Given the description of an element on the screen output the (x, y) to click on. 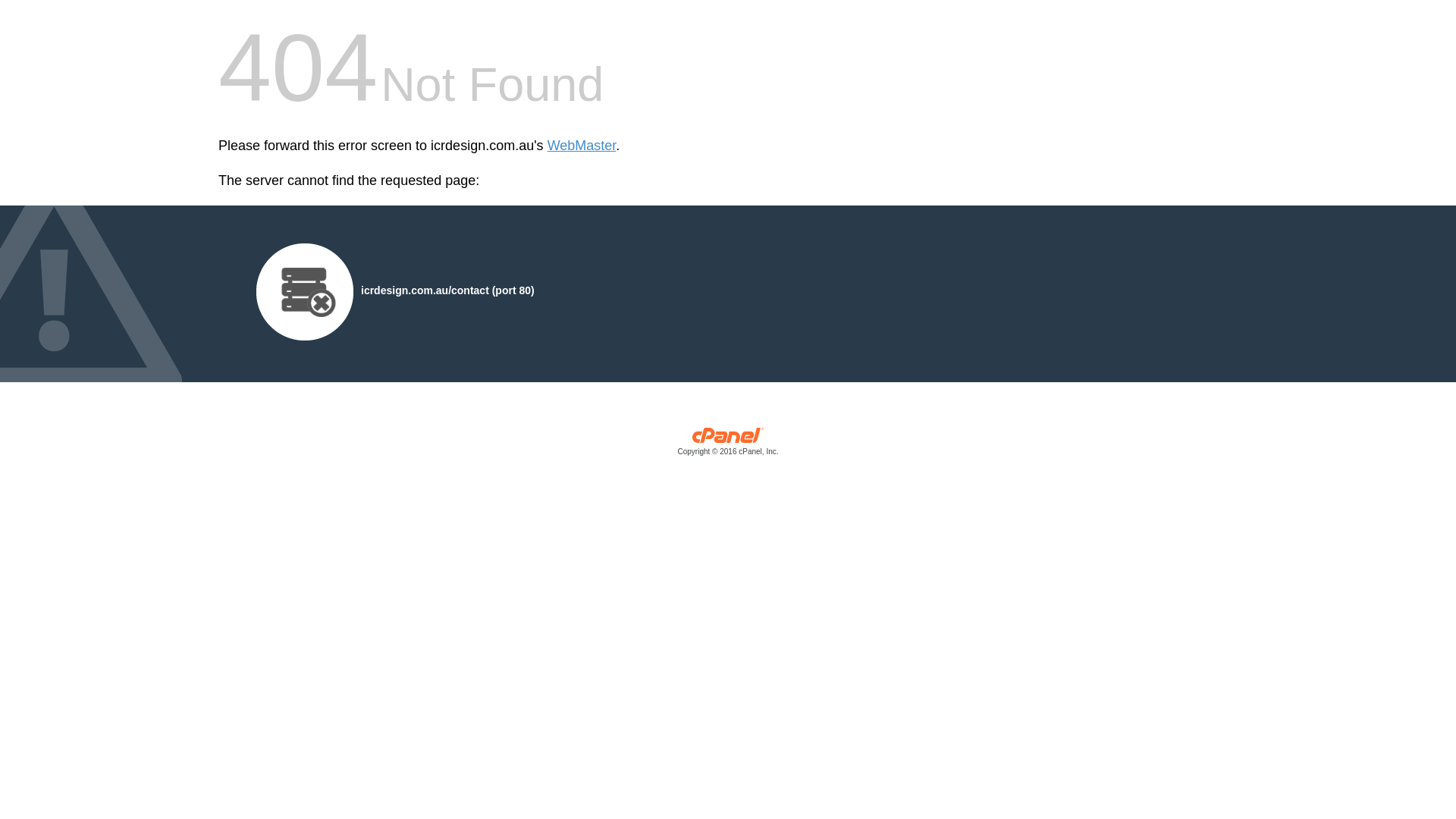
WebMaster Element type: text (581, 145)
